Given the description of an element on the screen output the (x, y) to click on. 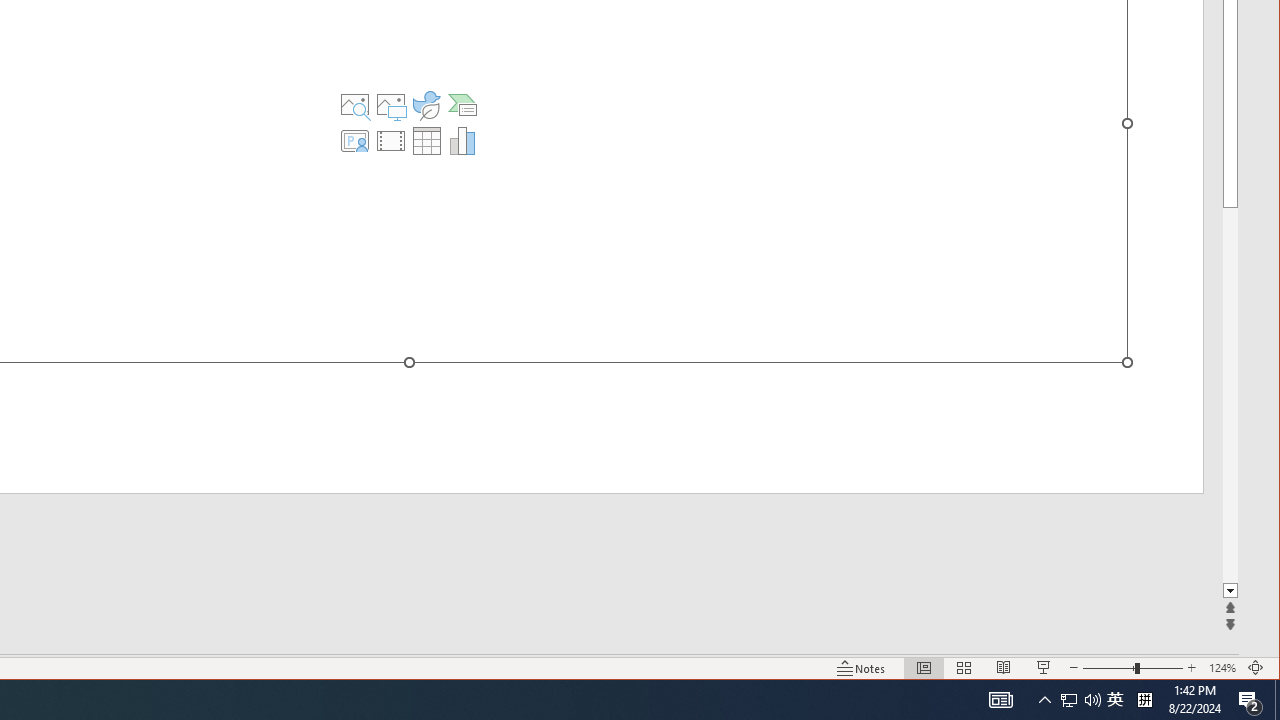
Zoom 124% (1222, 668)
Insert Cameo (355, 140)
